Given the description of an element on the screen output the (x, y) to click on. 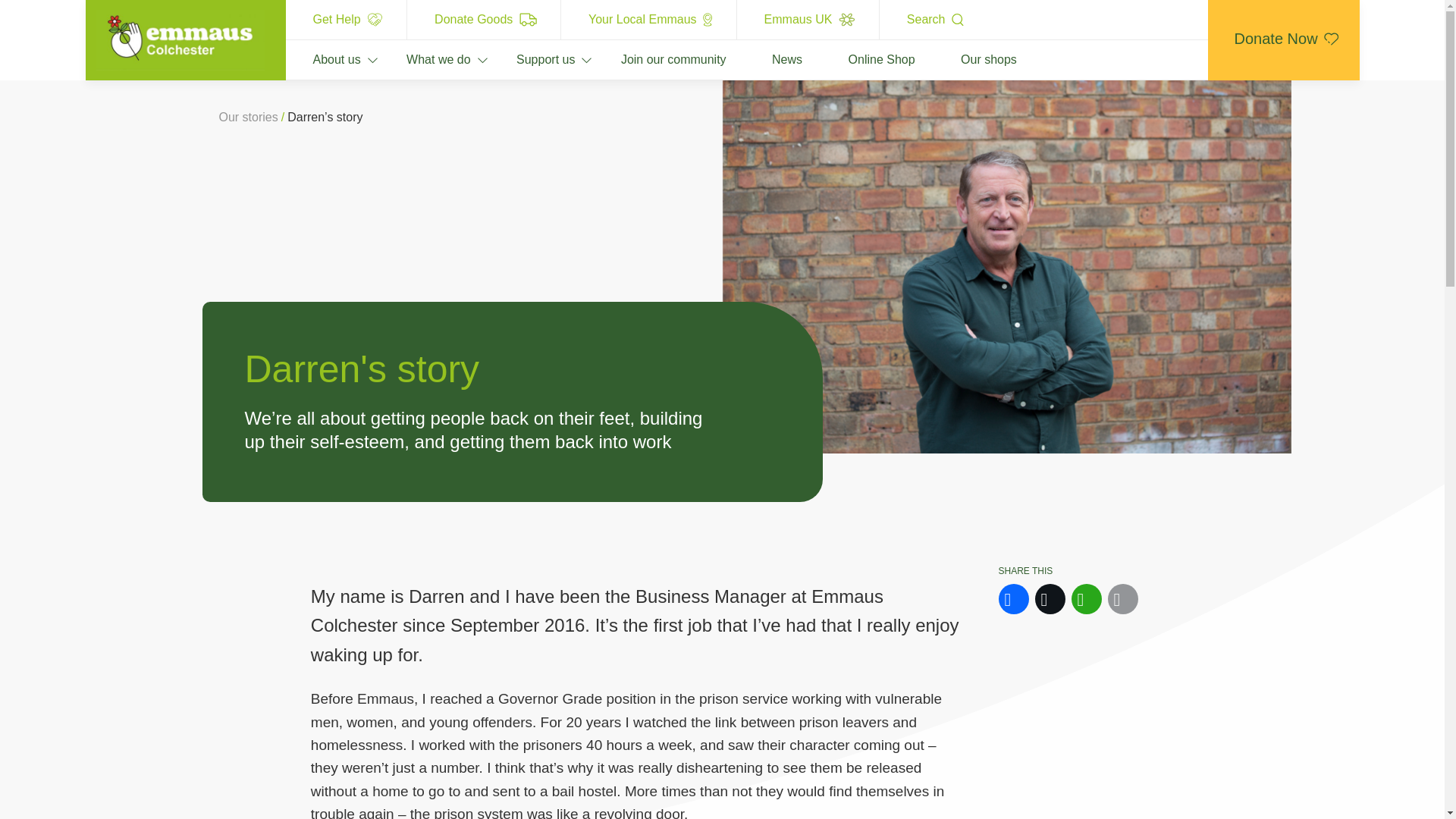
Donate Goods (483, 19)
Email This (1121, 598)
Your Local Emmaus (648, 19)
Donate Now (1282, 40)
Emmaus UK (807, 19)
Support us (530, 59)
Search (933, 19)
Join our community (658, 59)
Our shops (973, 59)
Online Shop (866, 59)
Get Help (346, 19)
SHARE THIS (1108, 590)
WhatsApp (1085, 598)
Facebook (1013, 598)
News (771, 59)
